Given the description of an element on the screen output the (x, y) to click on. 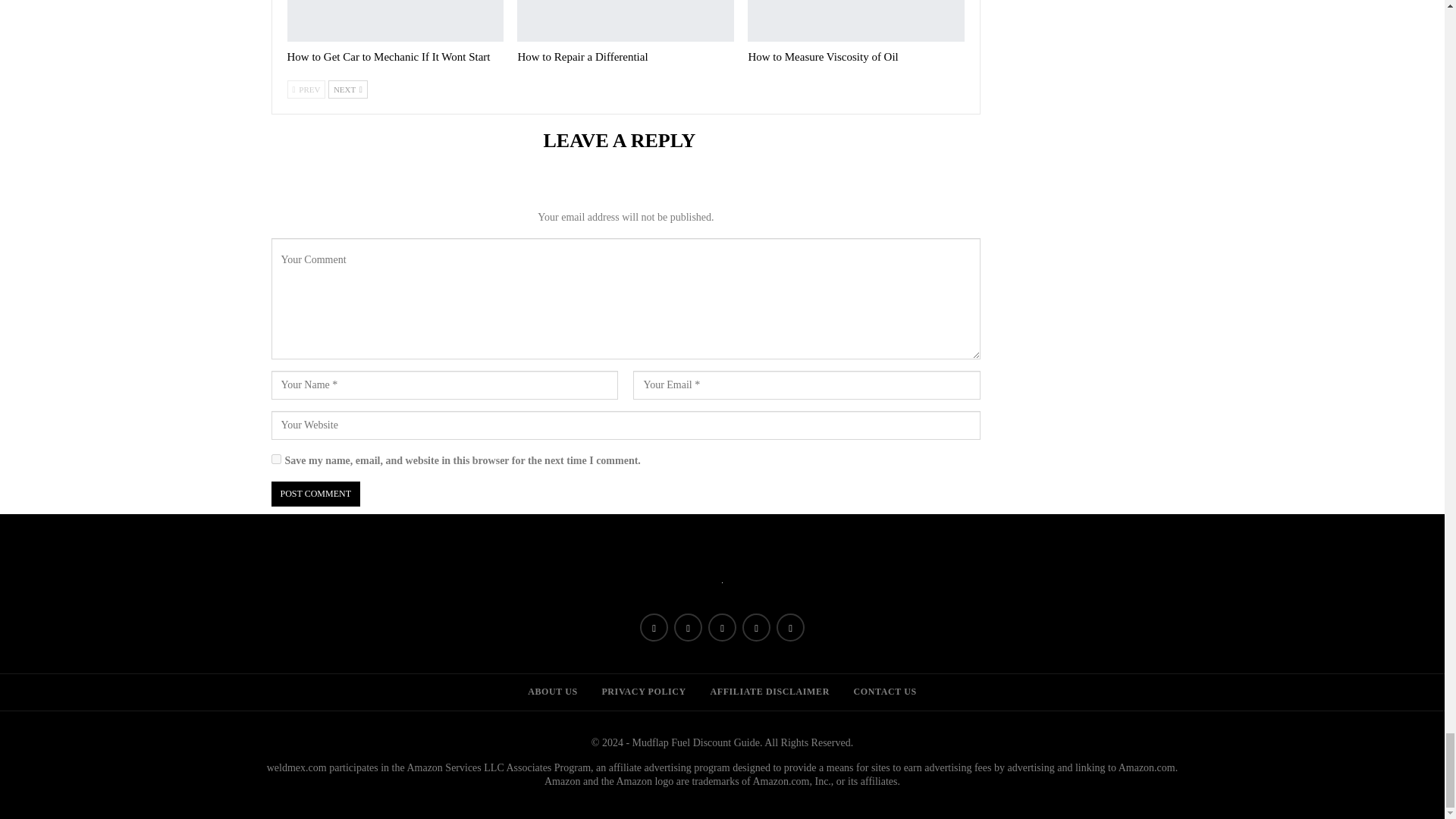
How to Measure Viscosity of Oil (823, 56)
How to Get Car to Mechanic If It Wont Start (387, 56)
How to Repair a Differential (581, 56)
How to Repair a Differential (624, 20)
Post Comment (314, 493)
How to Get Car to Mechanic If It Wont Start (394, 20)
yes (275, 459)
How to Measure Viscosity of Oil (855, 20)
